Given the description of an element on the screen output the (x, y) to click on. 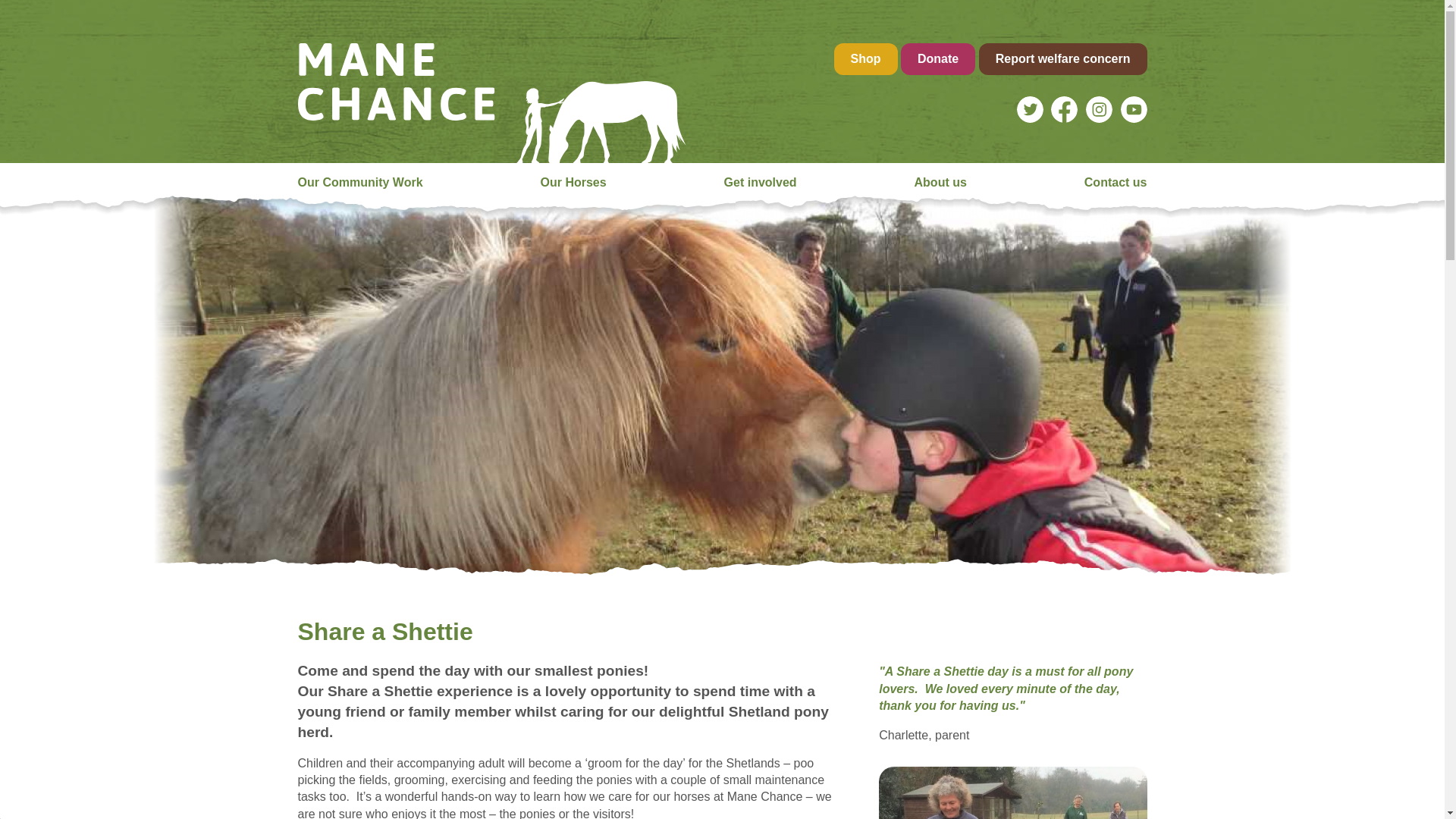
Get involved (760, 178)
Our Community Work (359, 178)
Report welfare concern (1062, 59)
Shop (866, 59)
Donate (938, 59)
Our Horses (572, 178)
